Given the description of an element on the screen output the (x, y) to click on. 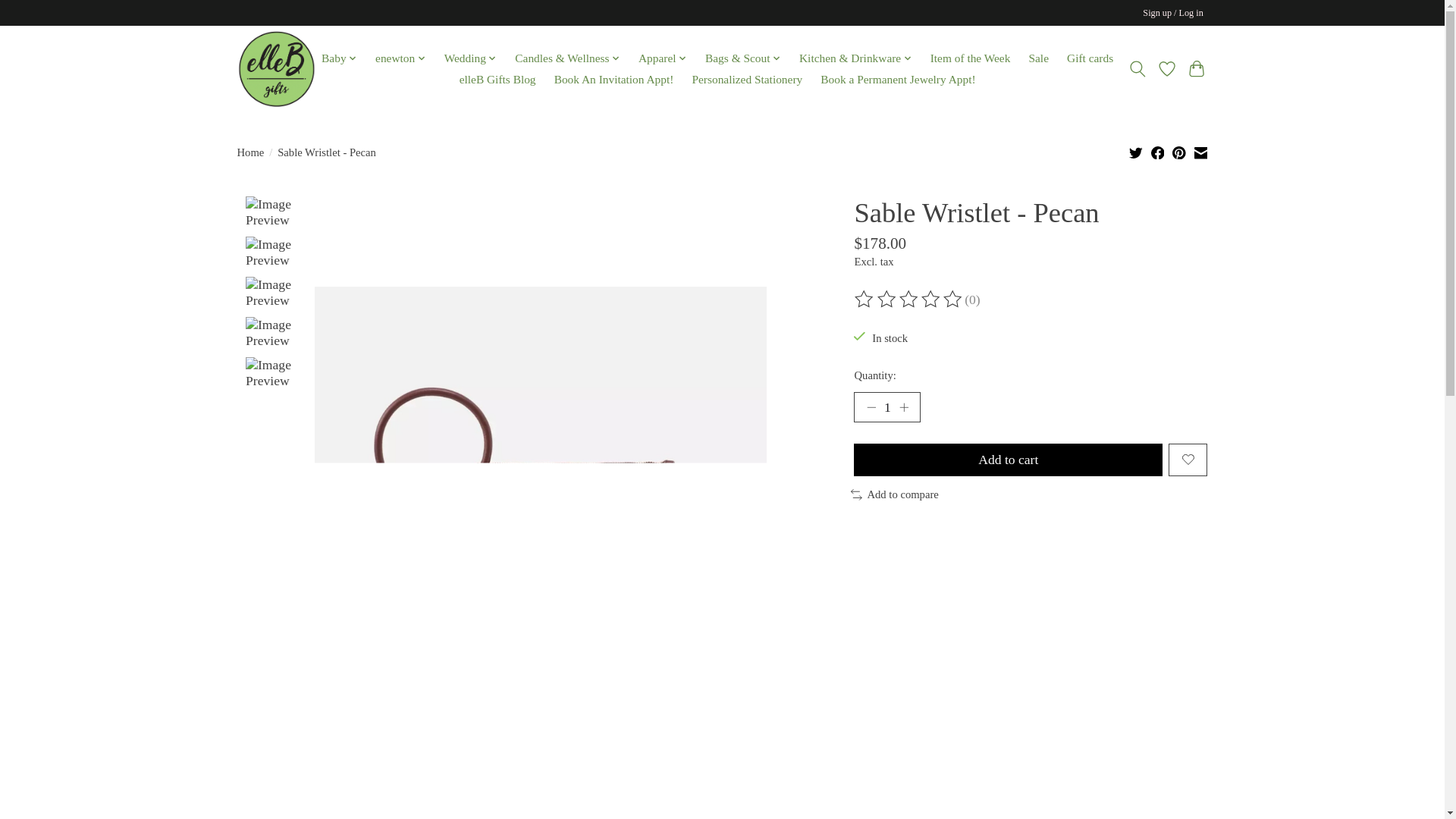
Share on Pinterest (1178, 151)
My account (1173, 13)
Share on Facebook (1157, 151)
1 (886, 407)
enewton (399, 58)
ElleB gifts  (274, 69)
Share by Email (1200, 151)
Wedding (470, 58)
Baby (338, 58)
Share on Twitter (1135, 151)
